Given the description of an element on the screen output the (x, y) to click on. 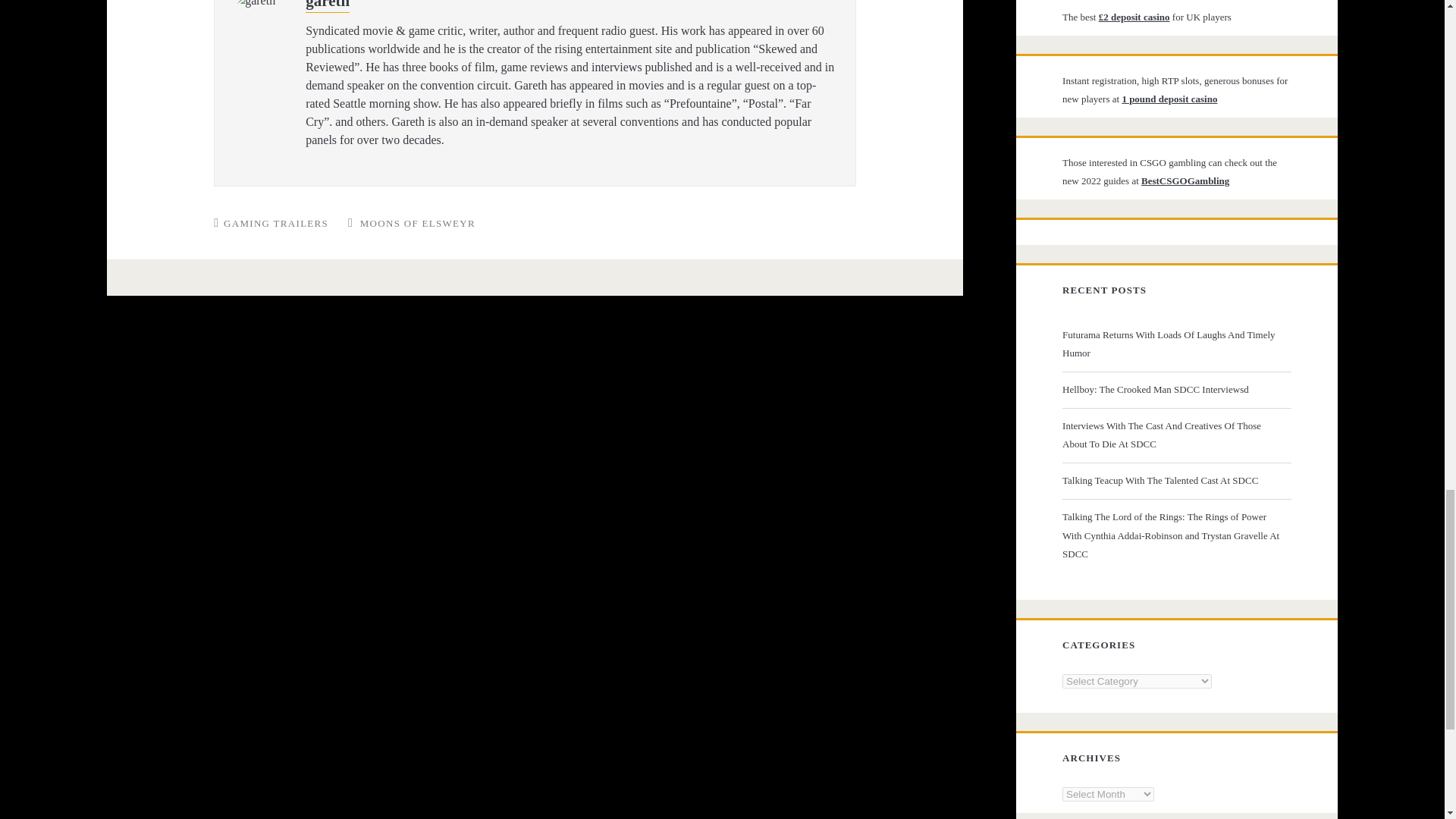
View all posts tagged Moons of Elsweyr (417, 223)
View all posts in Gaming Trailers (276, 223)
